Given the description of an element on the screen output the (x, y) to click on. 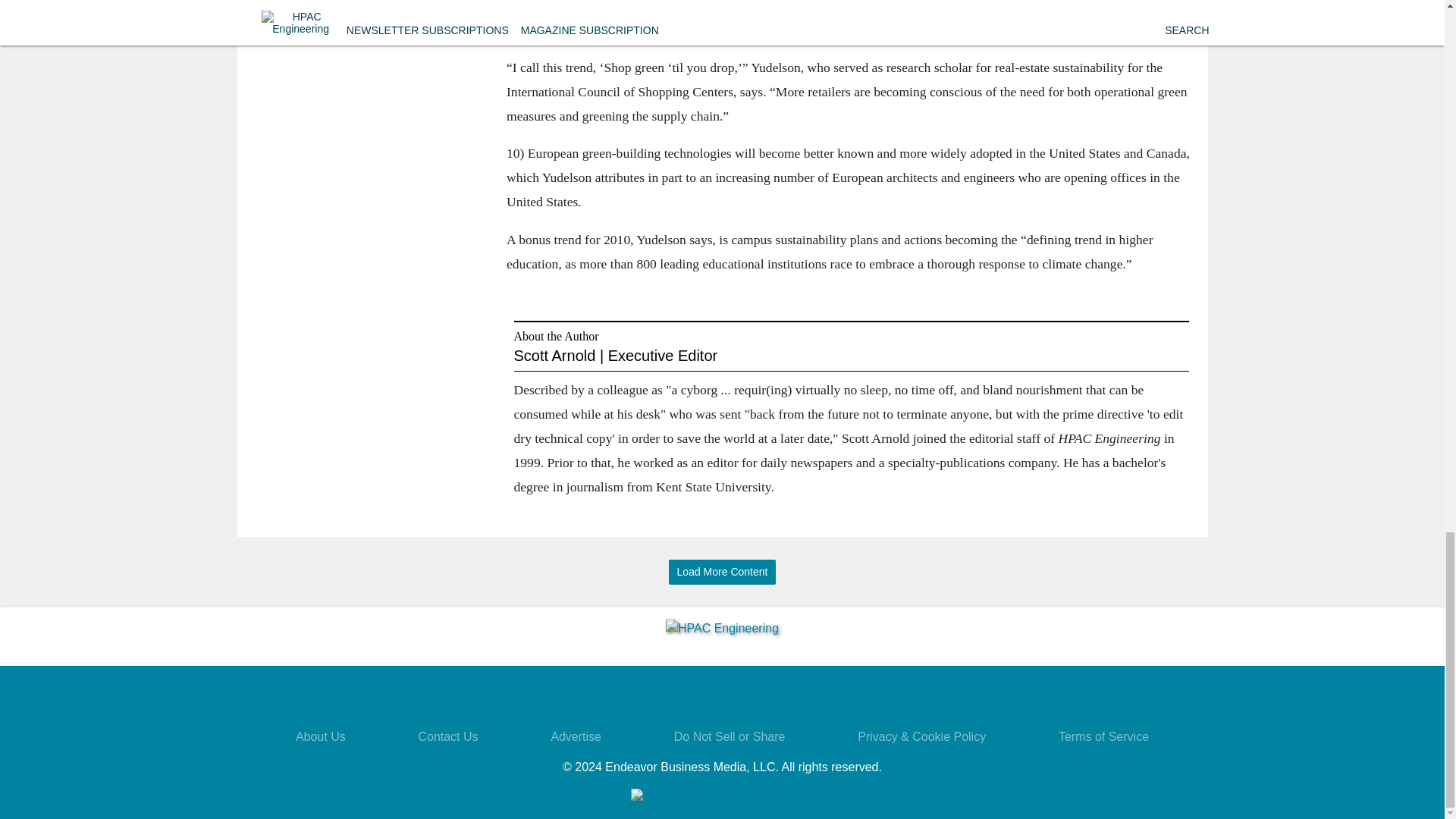
About Us (320, 736)
Contact Us (447, 736)
Do Not Sell or Share (730, 736)
Load More Content (722, 571)
Advertise (575, 736)
